Given the description of an element on the screen output the (x, y) to click on. 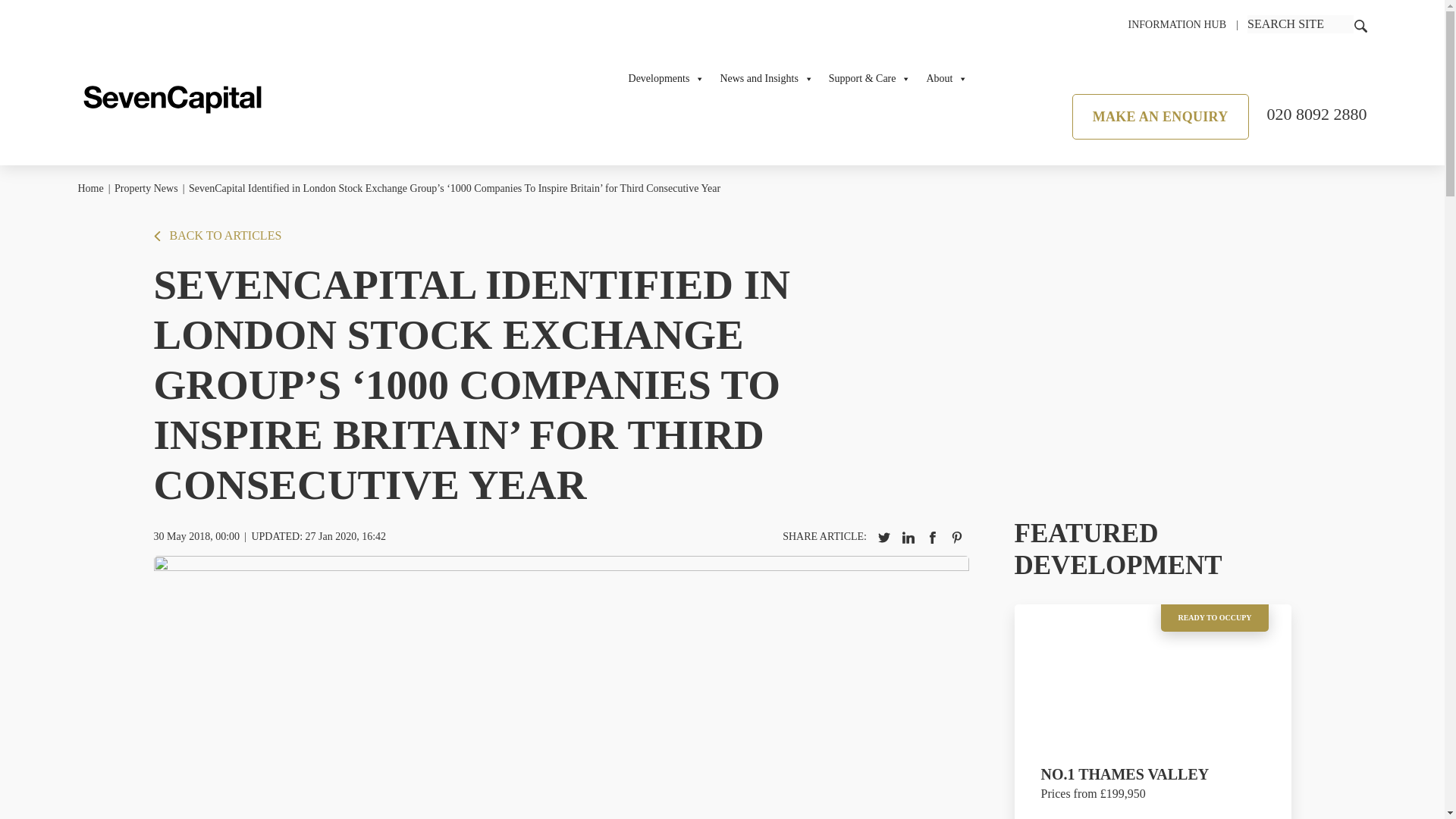
Search (1300, 24)
Seven Capital Logo (171, 98)
Search (1360, 25)
BACK ARROW (156, 235)
INFORMATION HUB (1175, 24)
Developments (667, 78)
Seven Capital Logo (171, 95)
Search (1359, 24)
